Given the description of an element on the screen output the (x, y) to click on. 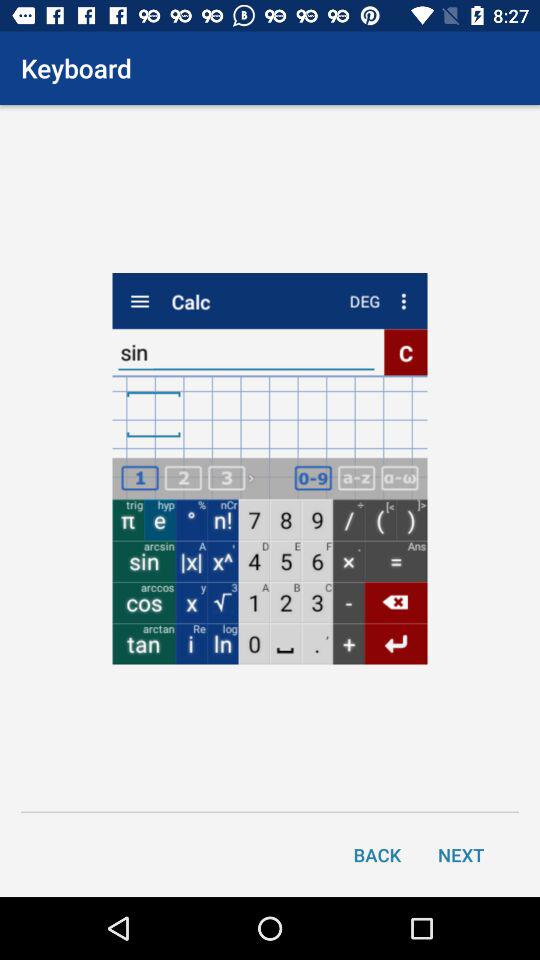
press next icon (461, 854)
